Given the description of an element on the screen output the (x, y) to click on. 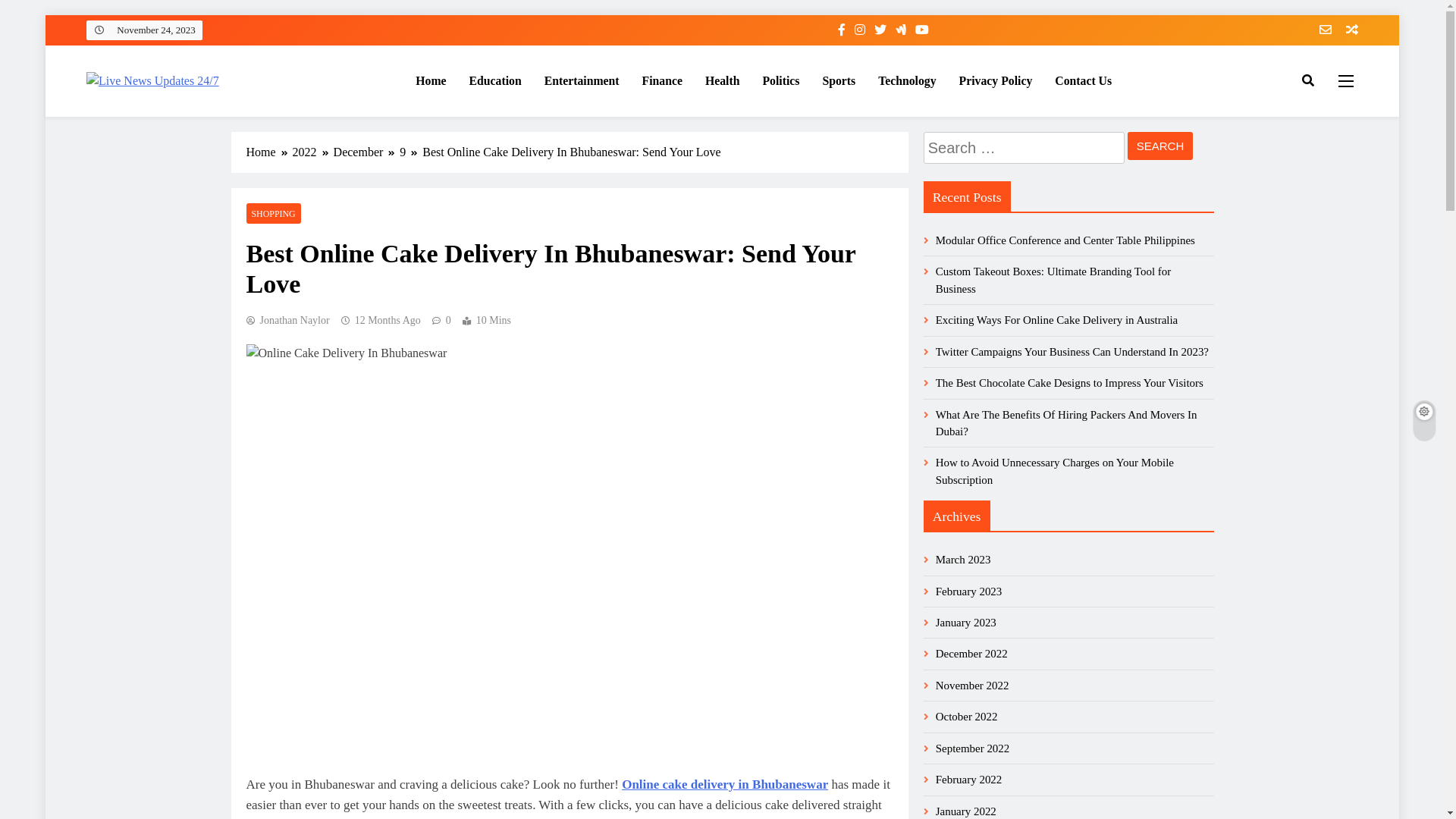
Sports Element type: text (838, 80)
December 2022 Element type: text (971, 653)
September 2022 Element type: text (972, 748)
Newsletter Element type: hover (1319, 30)
March 2023 Element type: text (963, 559)
October 2022 Element type: text (966, 716)
Home Element type: text (268, 152)
SHOPPING Element type: text (272, 213)
2022 Element type: text (312, 152)
Custom Takeout Boxes: Ultimate Branding Tool for Business Element type: text (1053, 279)
Exciting Ways For Online Cake Delivery in Australia Element type: text (1056, 319)
December Element type: text (366, 152)
Jonathan Naylor Element type: text (287, 320)
12 Months Ago Element type: text (387, 320)
Education Element type: text (495, 80)
Modular Office Conference and Center Table Philippines Element type: text (1065, 240)
9 Element type: text (410, 152)
Online cake delivery in Bhubaneswar Element type: text (724, 784)
What Are The Benefits Of Hiring Packers And Movers In Dubai? Element type: text (1066, 422)
How to Avoid Unnecessary Charges on Your Mobile Subscription Element type: text (1054, 470)
Privacy Policy Element type: text (995, 80)
The Best Chocolate Cake Designs to Impress Your Visitors Element type: text (1069, 382)
Technology Element type: text (906, 80)
November 2022 Element type: text (972, 685)
Search Element type: text (1160, 145)
Finance Element type: text (661, 80)
Live News Updates 24/7 Element type: text (203, 106)
Home Element type: text (430, 80)
January 2023 Element type: text (965, 622)
Politics Element type: text (780, 80)
Skip to content Element type: text (44, 14)
Twitter Campaigns Your Business Can Understand In 2023? Element type: text (1071, 351)
Contact Us Element type: text (1083, 80)
January 2022 Element type: text (965, 811)
Entertainment Element type: text (581, 80)
February 2023 Element type: text (968, 591)
Health Element type: text (722, 80)
Random News Element type: hover (1346, 30)
February 2022 Element type: text (968, 779)
